Given the description of an element on the screen output the (x, y) to click on. 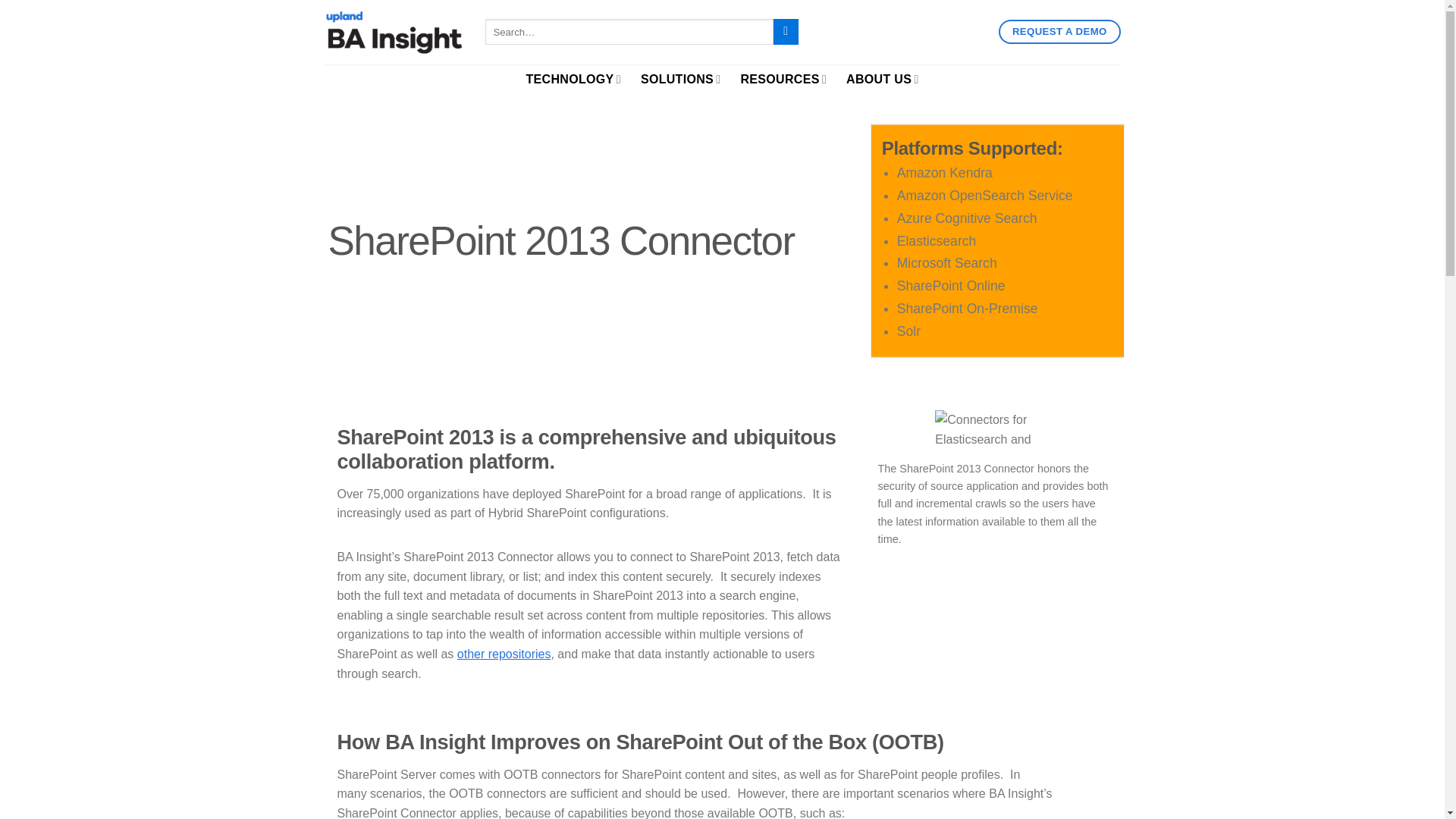
ABOUT US (881, 79)
RESOURCES (783, 79)
REQUEST A DEMO (1058, 32)
TECHNOLOGY (572, 79)
SOLUTIONS (680, 79)
other repositories (504, 653)
